Given the description of an element on the screen output the (x, y) to click on. 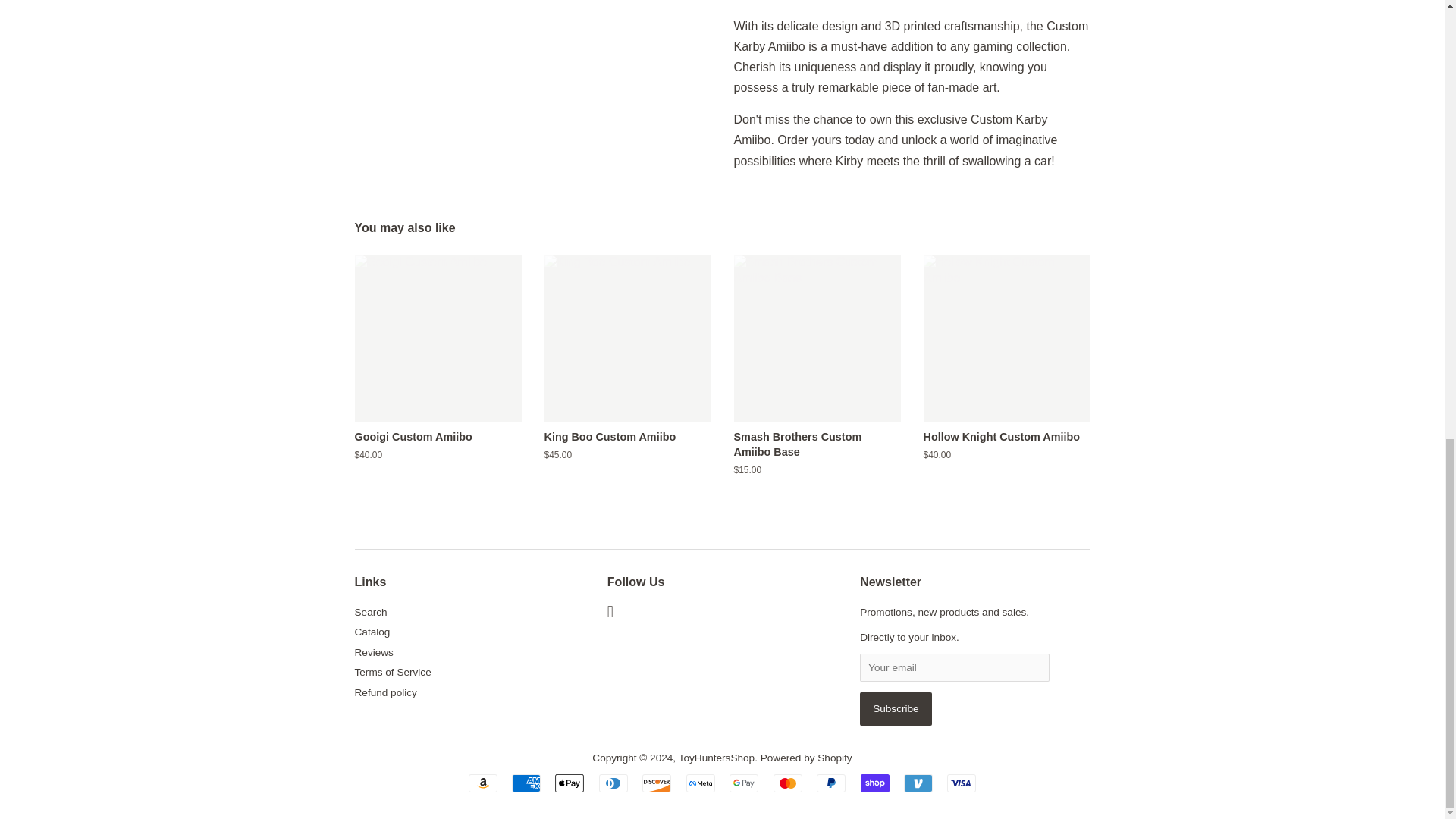
ToyHuntersShop (716, 757)
Meta Pay (699, 782)
Catalog (372, 632)
Visa (961, 782)
Subscribe (895, 708)
PayPal (830, 782)
Mastercard (787, 782)
Google Pay (743, 782)
American Express (526, 782)
Venmo (918, 782)
